Given the description of an element on the screen output the (x, y) to click on. 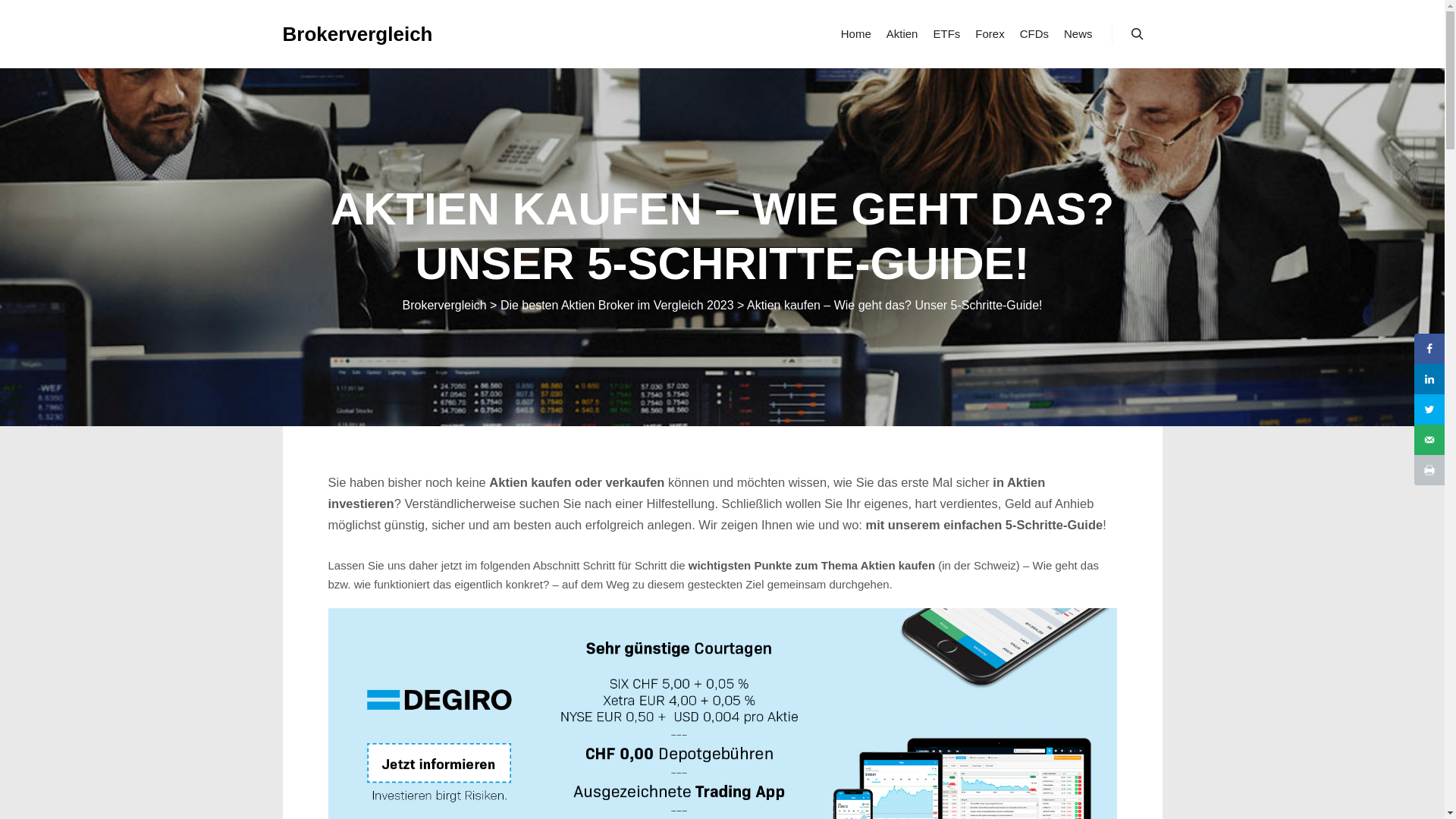
Brokervergleich Element type: text (357, 34)
Forex Element type: text (989, 34)
Share on LinkedIn Element type: hover (1429, 379)
Aktien Element type: text (901, 34)
Share on Facebook Element type: hover (1429, 348)
Suchen Element type: text (1137, 33)
CFDs Element type: text (1034, 34)
Print this webpage Element type: hover (1429, 470)
Brokervergleich Element type: text (443, 304)
Send over email Element type: hover (1429, 439)
Share on Twitter Element type: hover (1429, 409)
Home Element type: text (855, 34)
News Element type: text (1078, 34)
ETFs Element type: text (946, 34)
Die besten Aktien Broker im Vergleich 2023 Element type: text (617, 304)
